Given the description of an element on the screen output the (x, y) to click on. 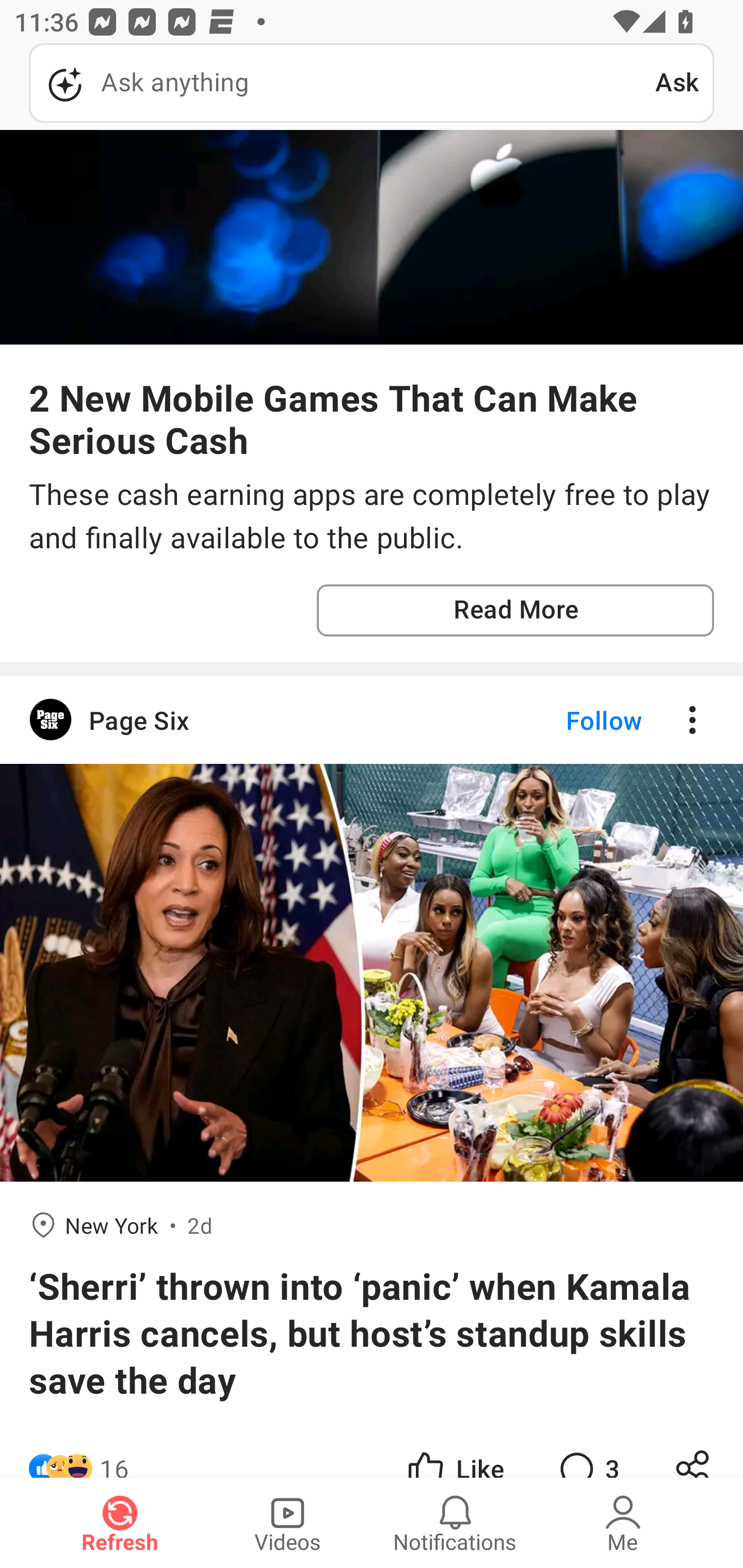
Ask anything (341, 82)
2 New Mobile Games That Can Make Serious Cash (371, 418)
Read More (515, 610)
Page Six Follow (371, 719)
Follow (569, 719)
16 (113, 1451)
Like (454, 1451)
3 (587, 1451)
Videos (287, 1522)
Notifications (455, 1522)
Me (622, 1522)
